Given the description of an element on the screen output the (x, y) to click on. 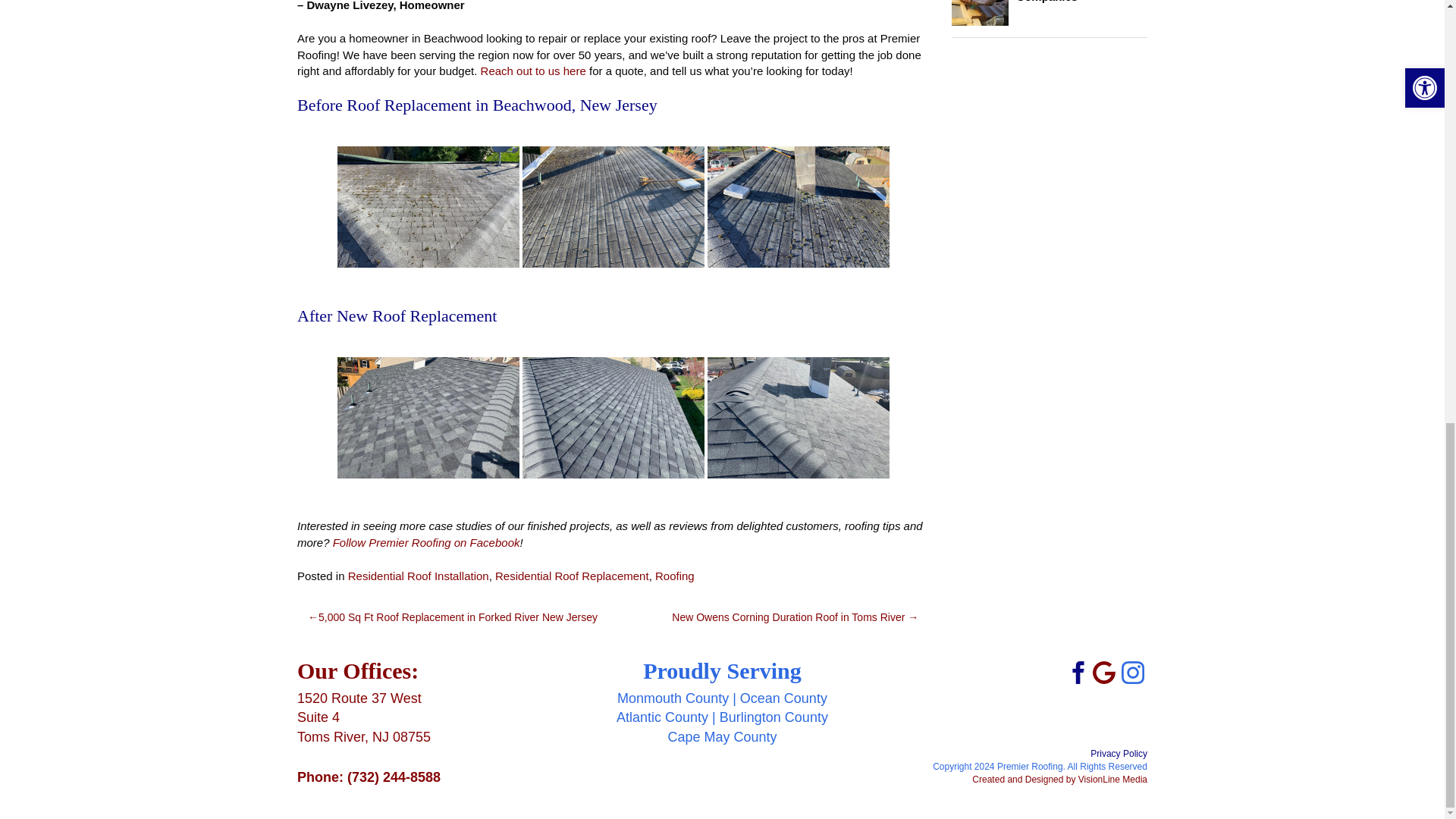
before-Roof-Replacement-in-Beachwood-New-Jersey-2 (428, 206)
after-Roof-Replacement-in-Beachwood-New-Jersey-2 (613, 417)
before-Roof-Replacement-in-Beachwood-New-Jersey-1 (613, 206)
Reach out to us here (533, 70)
facebook (1075, 671)
after-Roof-Replacement-in-Beachwood-New-Jersey-1 (428, 417)
after-Roof-Replacement-in-Beachwood-New-Jersey-3 (798, 417)
before-Roof-Replacement-in-Beachwood-New-Jersey-3 (798, 206)
